Given the description of an element on the screen output the (x, y) to click on. 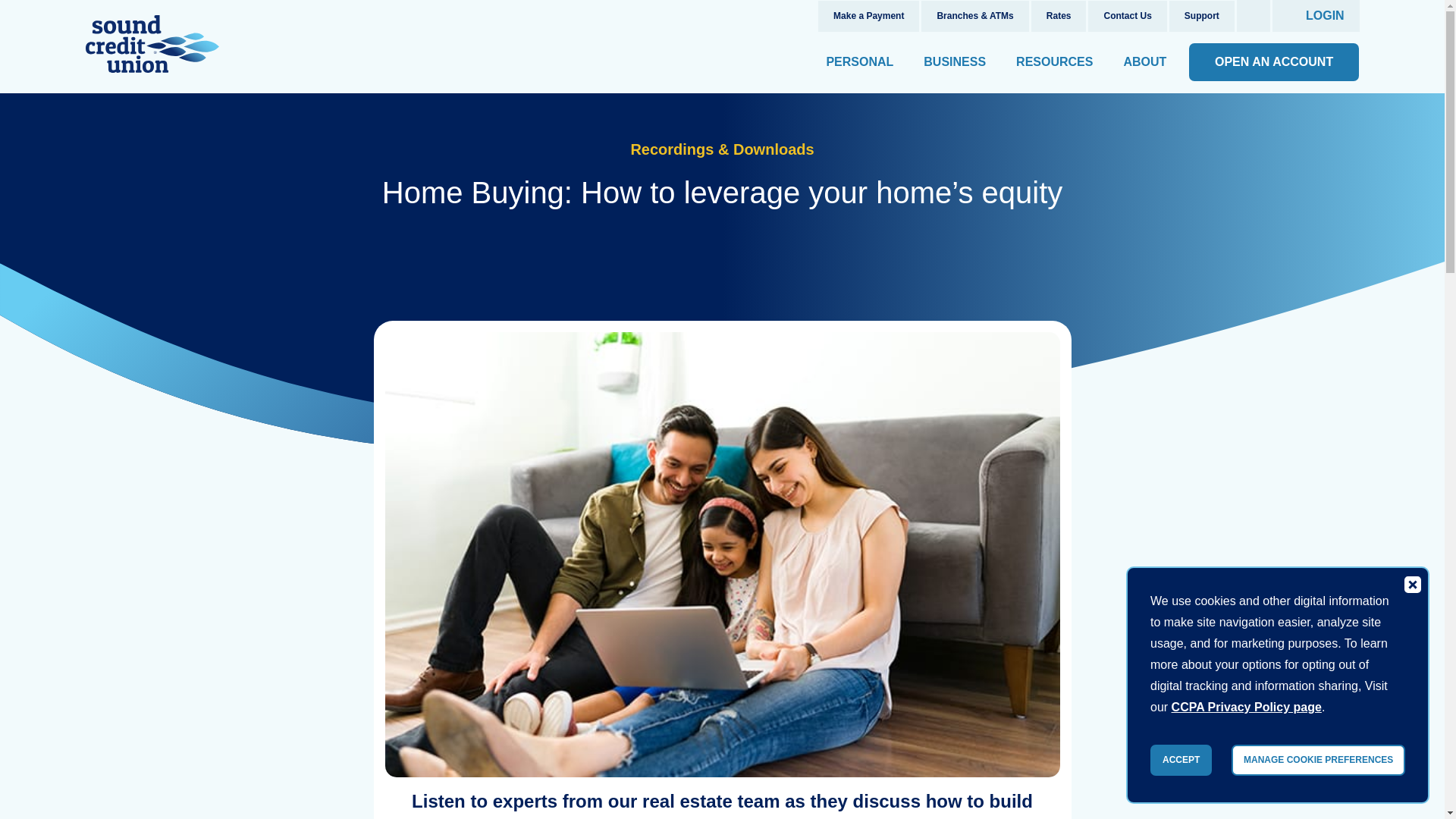
Make a Payment (868, 15)
Contact Us (1126, 15)
Support (1201, 15)
Rates (1058, 15)
PERSONAL (859, 62)
LOGIN (1315, 15)
